Given the description of an element on the screen output the (x, y) to click on. 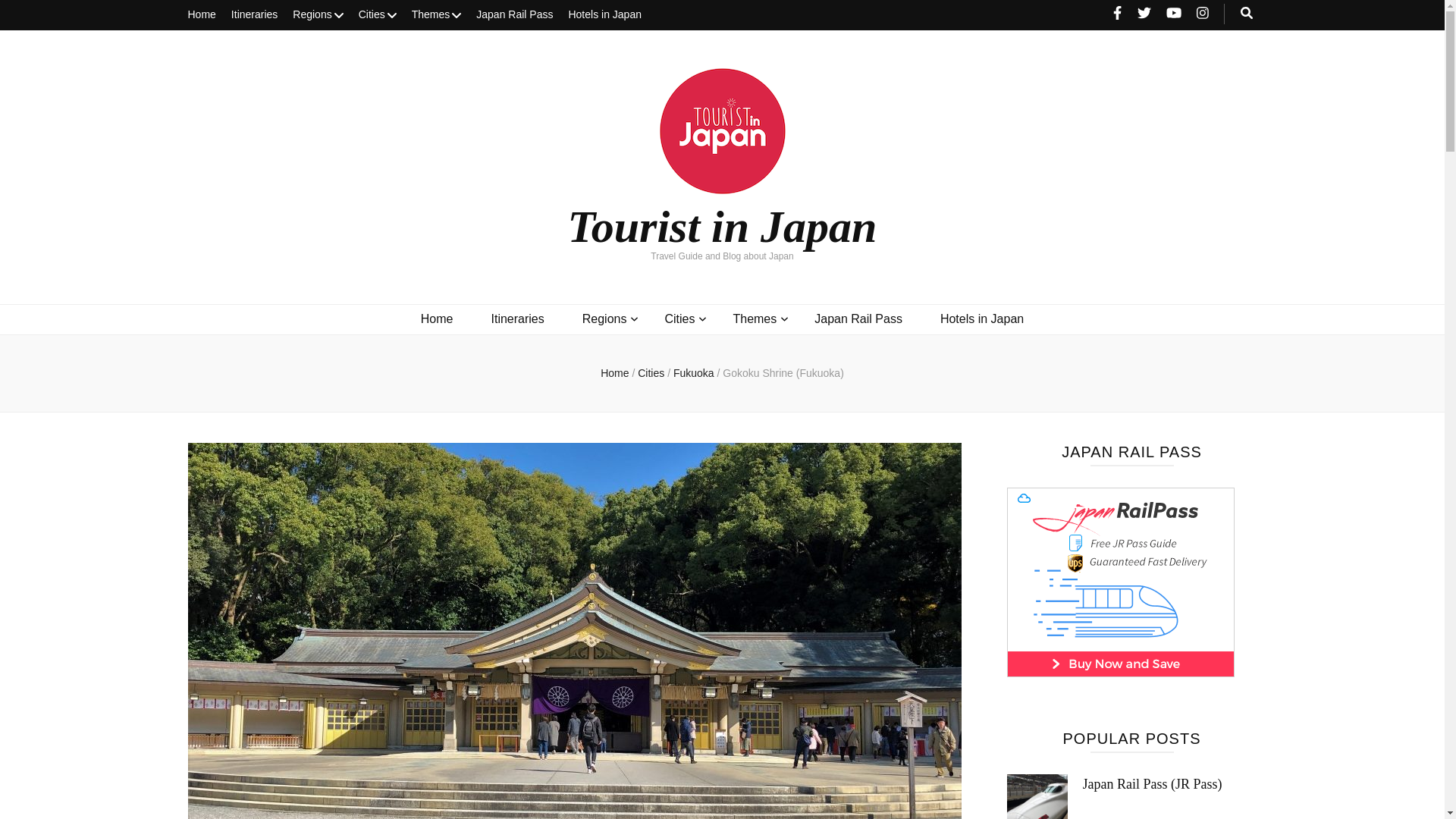
Regions (317, 15)
Themes (436, 15)
Home (201, 15)
Hotels in Japan (604, 15)
Japan Rail Pass (514, 15)
Cities (377, 15)
Itineraries (254, 15)
